Given the description of an element on the screen output the (x, y) to click on. 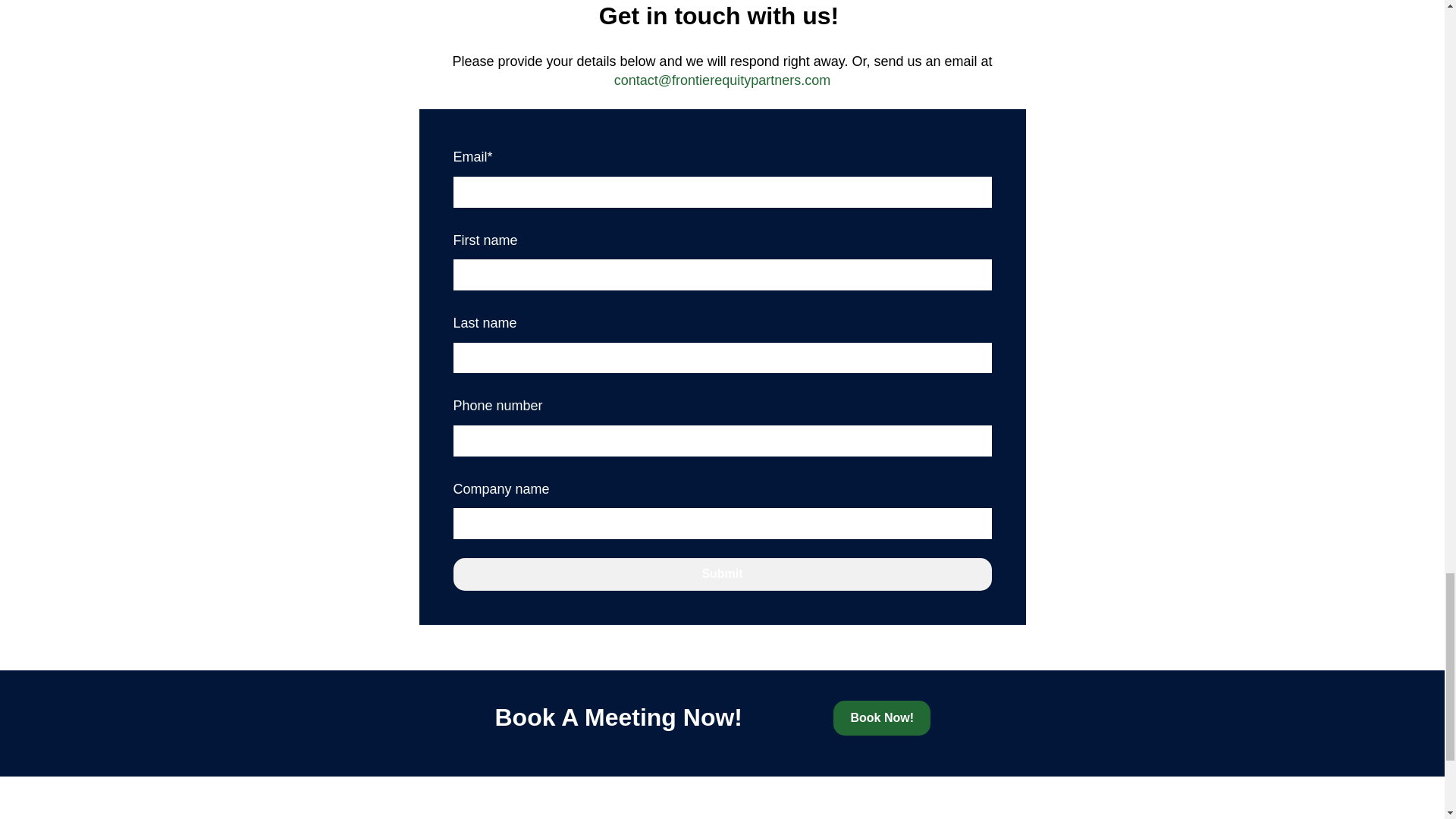
Submit (721, 573)
